Given the description of an element on the screen output the (x, y) to click on. 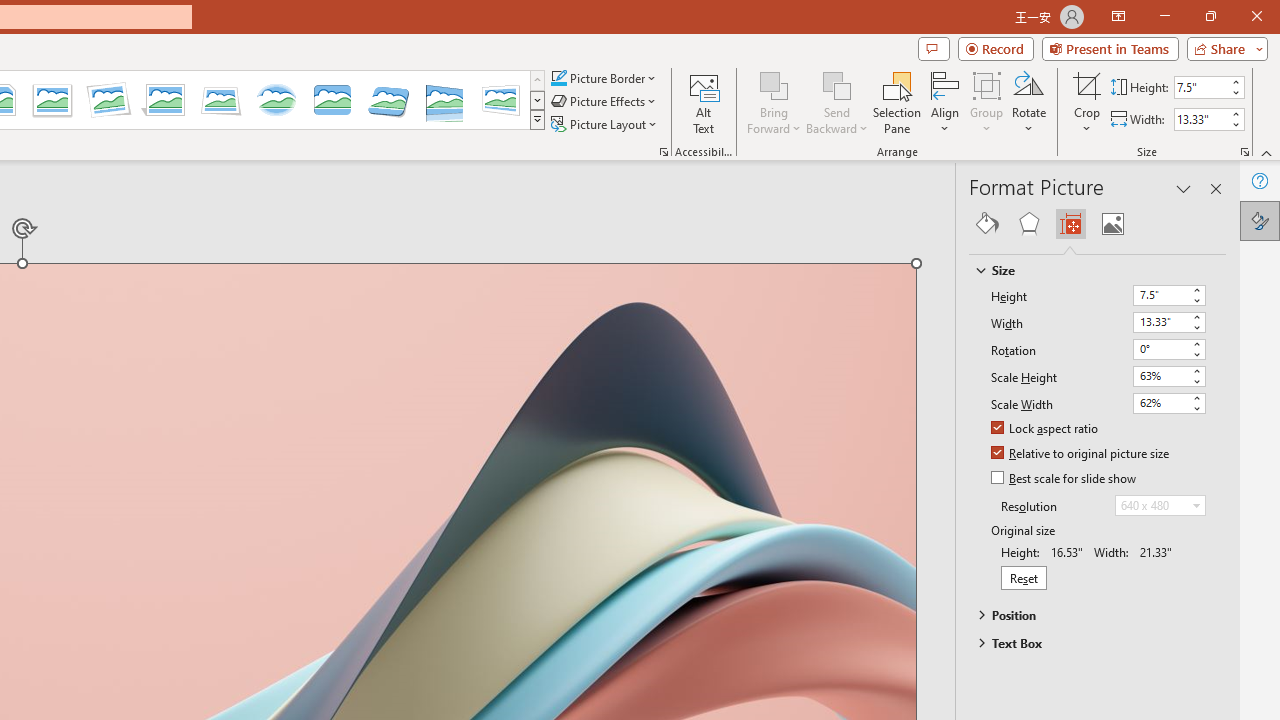
Width (1168, 321)
Bring Forward (773, 84)
Present in Teams (1109, 48)
Quick Styles (537, 120)
Selection Pane... (897, 102)
Best scale for slide show (1065, 479)
Picture... (663, 151)
Class: NetUIGalleryContainer (1098, 223)
More (1235, 113)
Resolution (1159, 505)
Rotated, White (108, 100)
Group (987, 102)
Less (1235, 124)
Shape Height (1201, 87)
Bevel Perspective Left, White (500, 100)
